Given the description of an element on the screen output the (x, y) to click on. 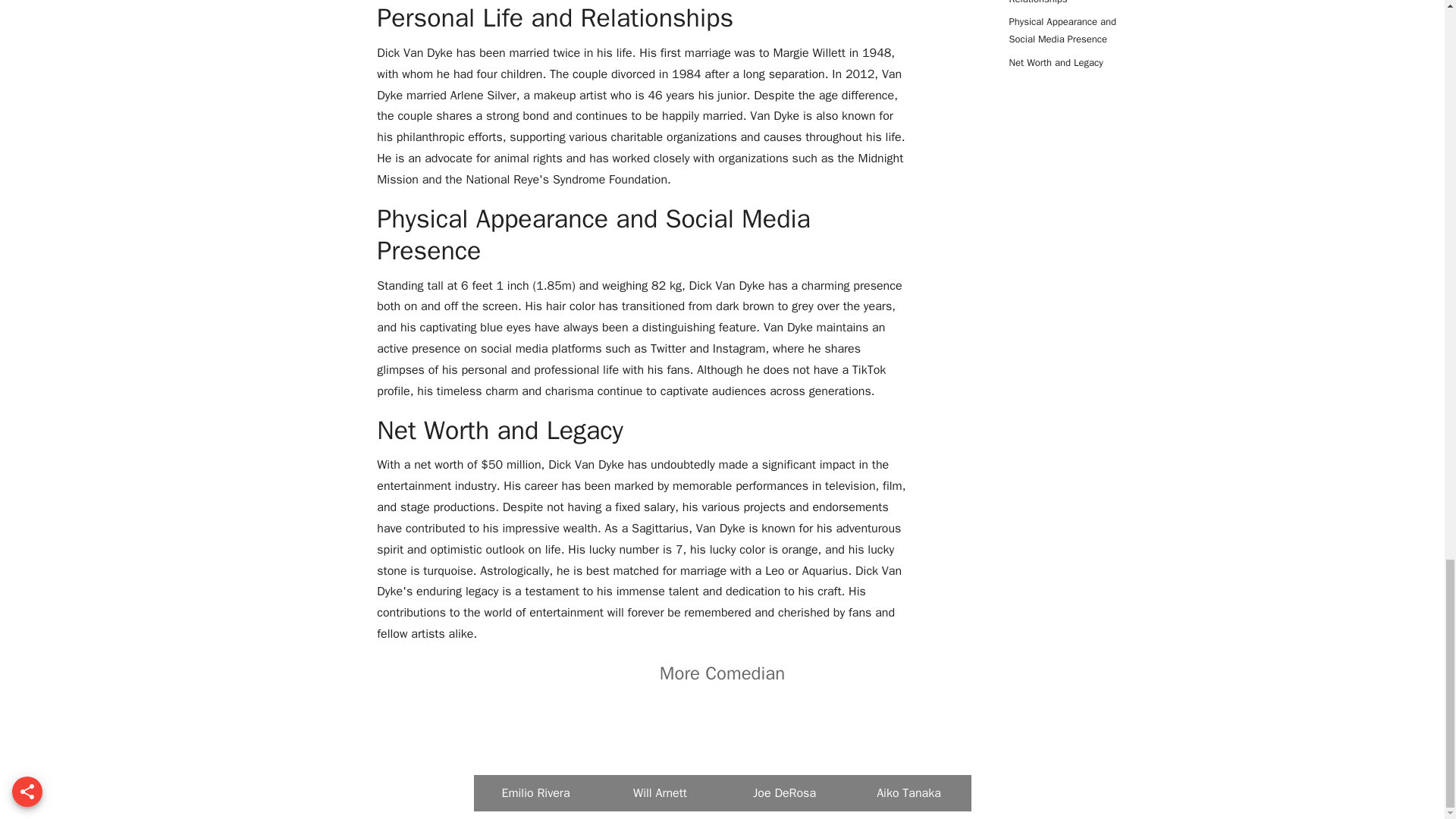
Joe DeRosa (783, 807)
More Comedian (721, 672)
Will Arnett (659, 807)
Aiko Tanaka (908, 807)
Emilio Rivera (534, 807)
